Given the description of an element on the screen output the (x, y) to click on. 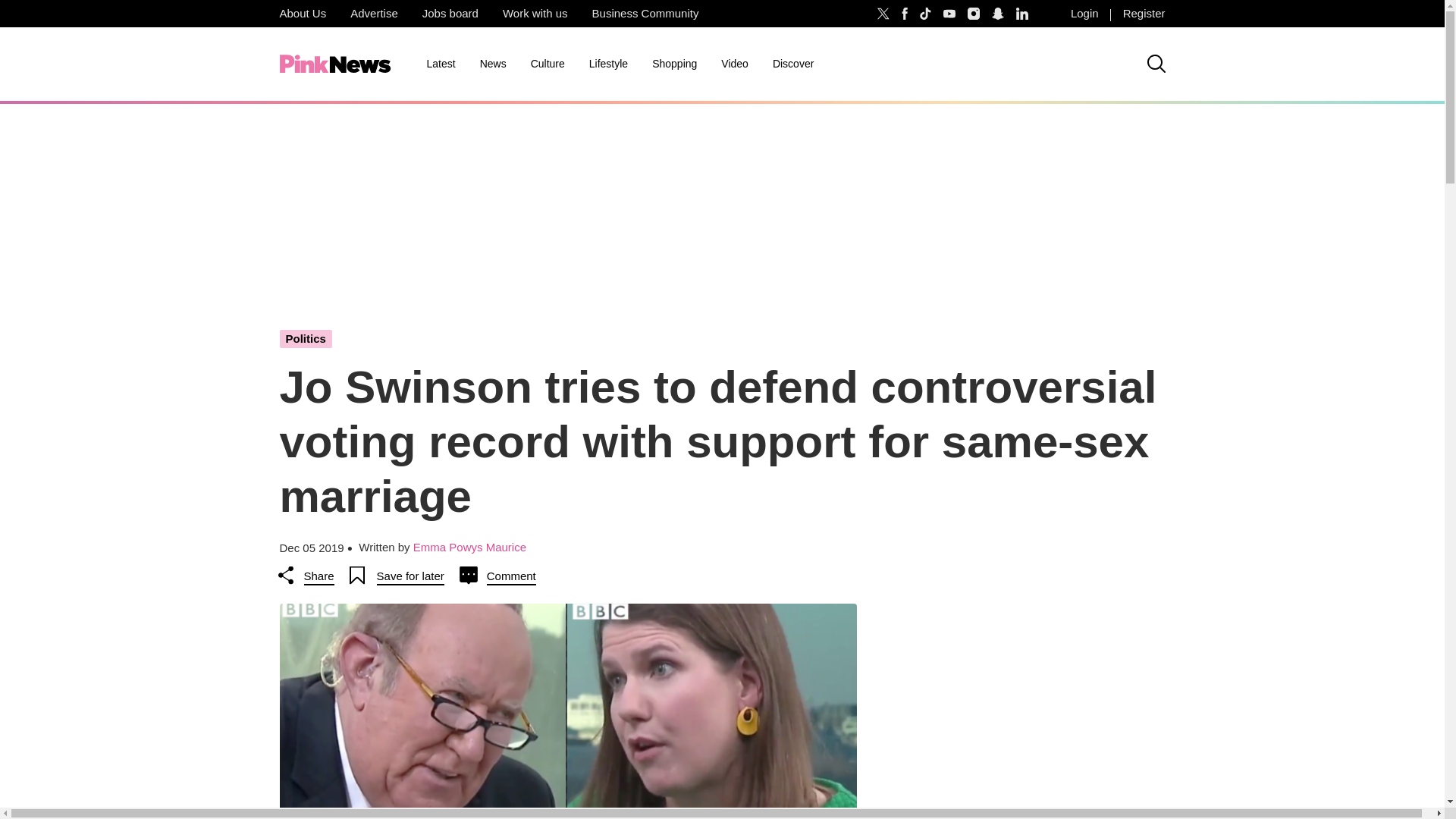
Advertise (373, 13)
Jobs board (450, 13)
About Us (301, 13)
Latest (440, 63)
Register (1143, 13)
Lifestyle (608, 63)
Culture (547, 63)
Business Community (645, 13)
News (493, 63)
Work with us (534, 13)
